Given the description of an element on the screen output the (x, y) to click on. 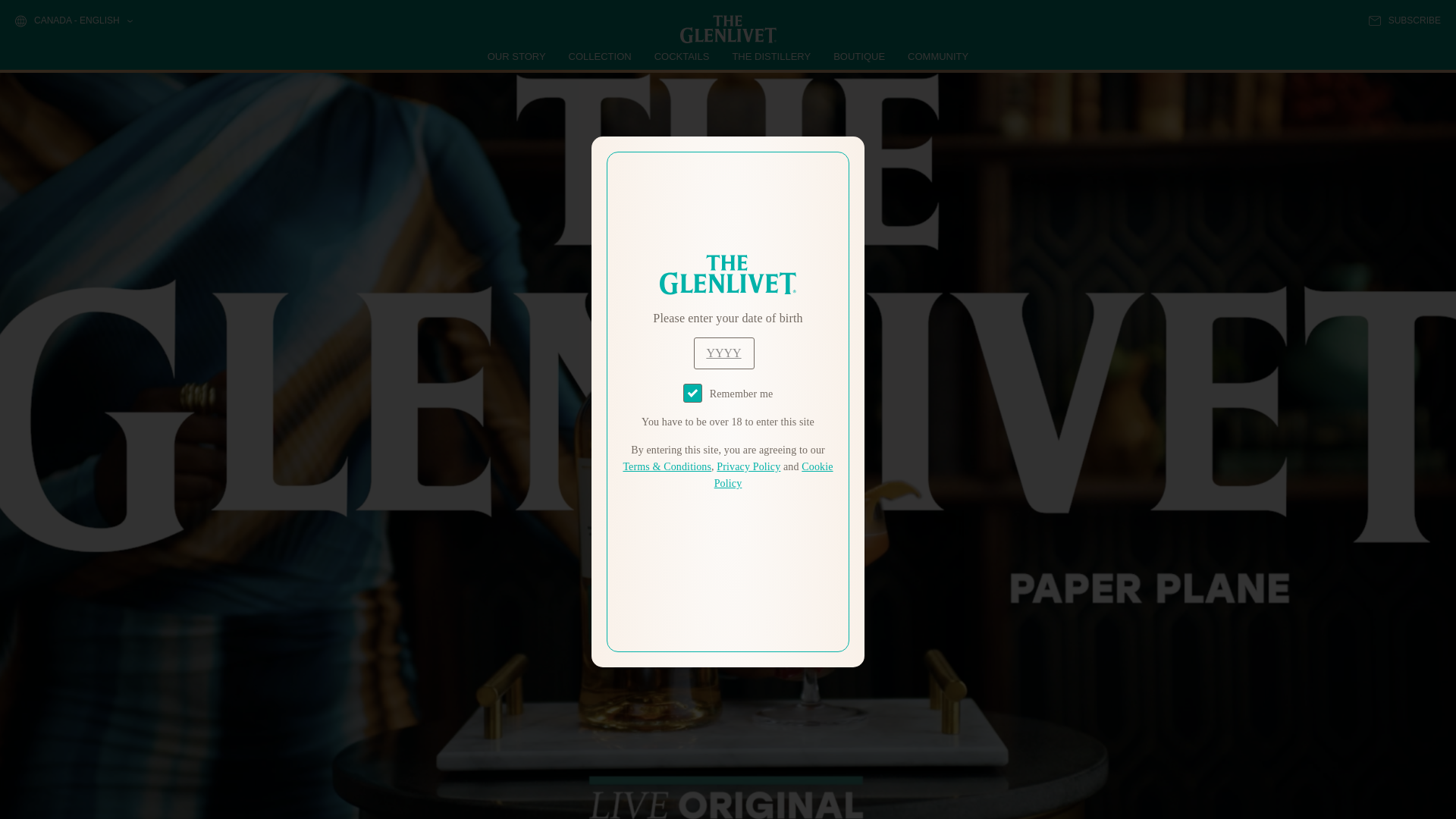
COMMUNITY (937, 56)
CANADA - ENGLISH (73, 21)
COLLECTION (600, 56)
year (723, 353)
COCKTAILS (681, 56)
OUR STORY (516, 56)
Cookie Policy (773, 474)
BOUTIQUE (858, 56)
THE DISTILLERY (771, 56)
SUBSCRIBE (1404, 20)
